Given the description of an element on the screen output the (x, y) to click on. 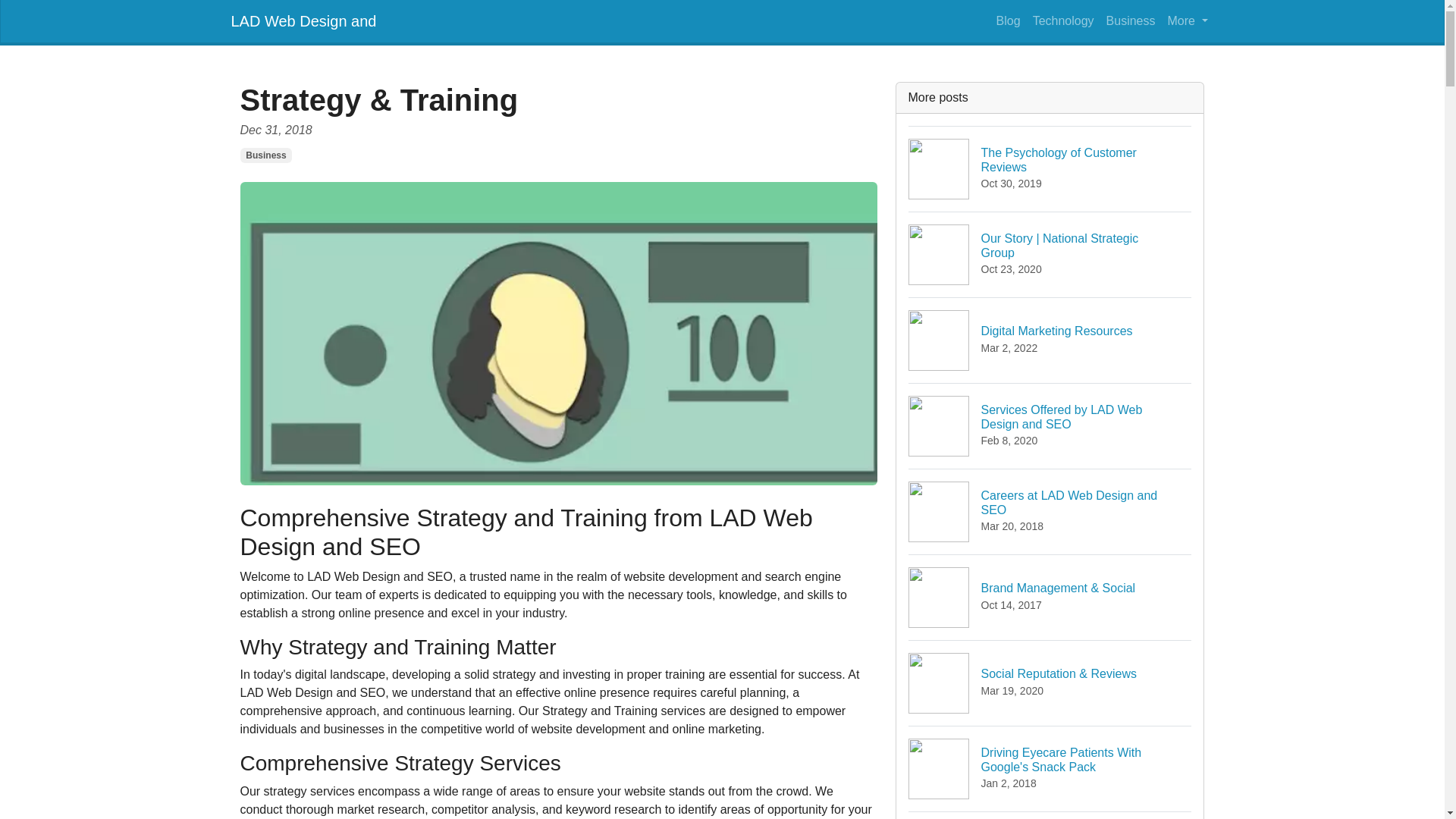
LAD Web Design and (1050, 511)
Blog (302, 20)
Business (1008, 20)
Technology (1130, 20)
More (1050, 815)
Business (1063, 20)
